Given the description of an element on the screen output the (x, y) to click on. 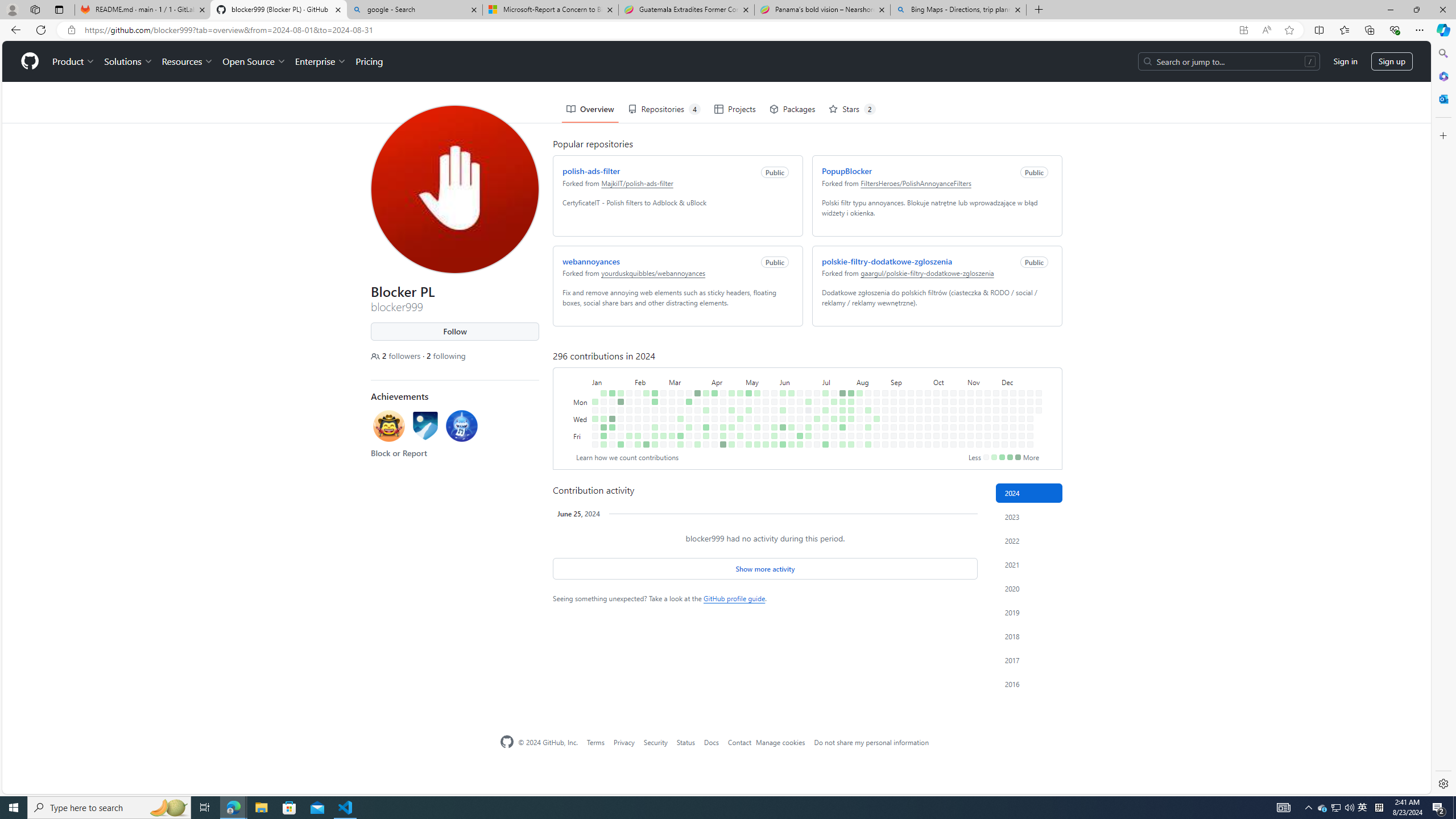
No contributions on May 19th. (763, 351)
Thursday (579, 386)
No contributions on September 28th. (919, 444)
FiltersHeroes/PolishAnnoyanceFilters (913, 141)
No contributions on December 16th. (1019, 360)
No contributions on March 17th. (687, 351)
No contributions on October 7th. (933, 360)
No contributions on October 12th. (936, 444)
No contributions on September 14th. (902, 444)
3 contributions on July 17th. (831, 377)
No contributions on September 4th. (890, 377)
No contributions on July 20th. (834, 444)
March (686, 339)
No contributions on September 7th. (893, 444)
